Given the description of an element on the screen output the (x, y) to click on. 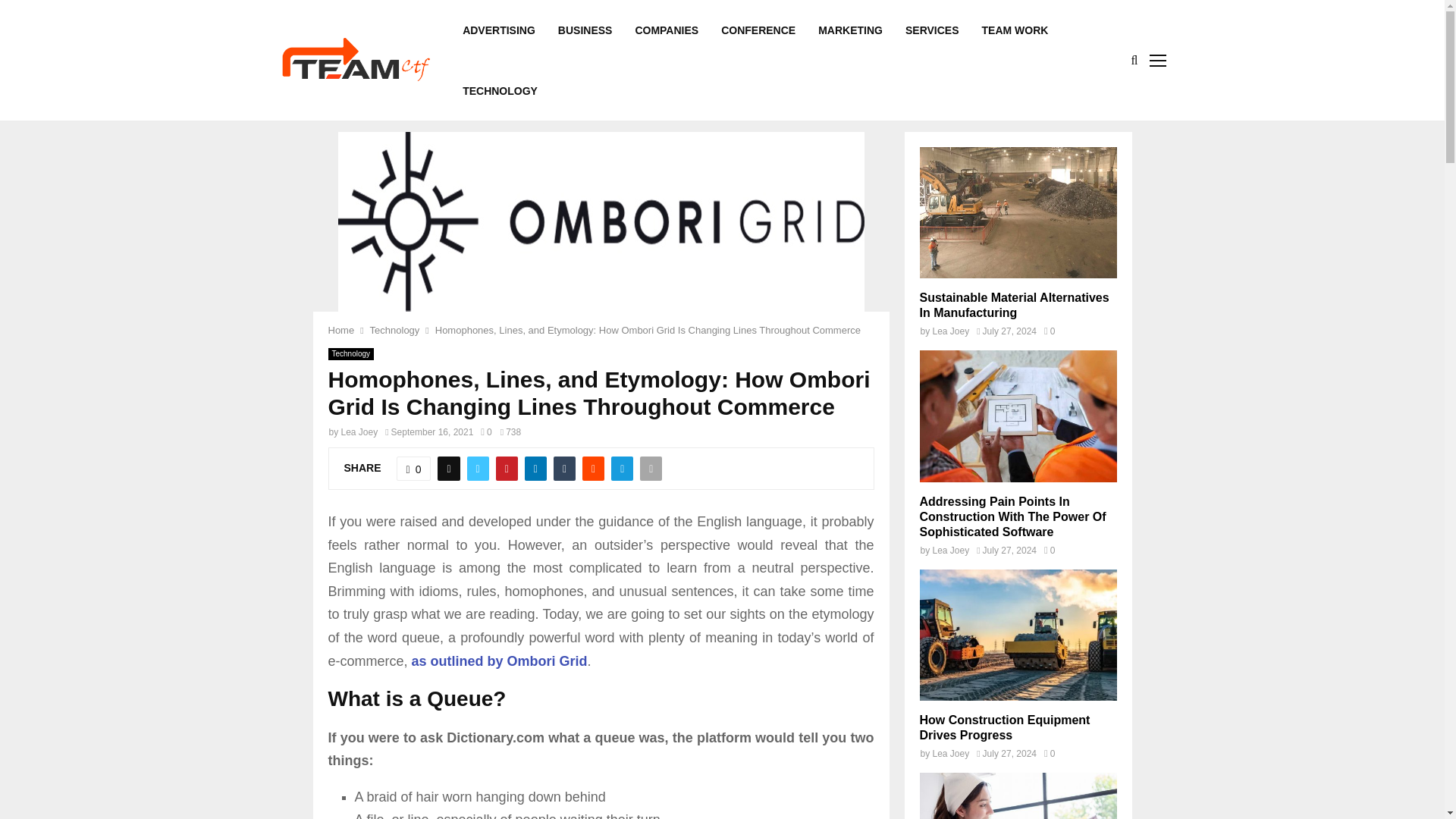
ADVERTISING (499, 30)
Lea Joey (359, 431)
Technology (350, 354)
0 (486, 431)
TECHNOLOGY (500, 90)
Like (413, 468)
COMPANIES (666, 30)
Technology (394, 329)
Home (340, 329)
TEAM WORK (1014, 30)
as outlined by Ombori Grid (500, 661)
CONFERENCE (757, 30)
BUSINESS (584, 30)
Sign up new account (722, 531)
